Given the description of an element on the screen output the (x, y) to click on. 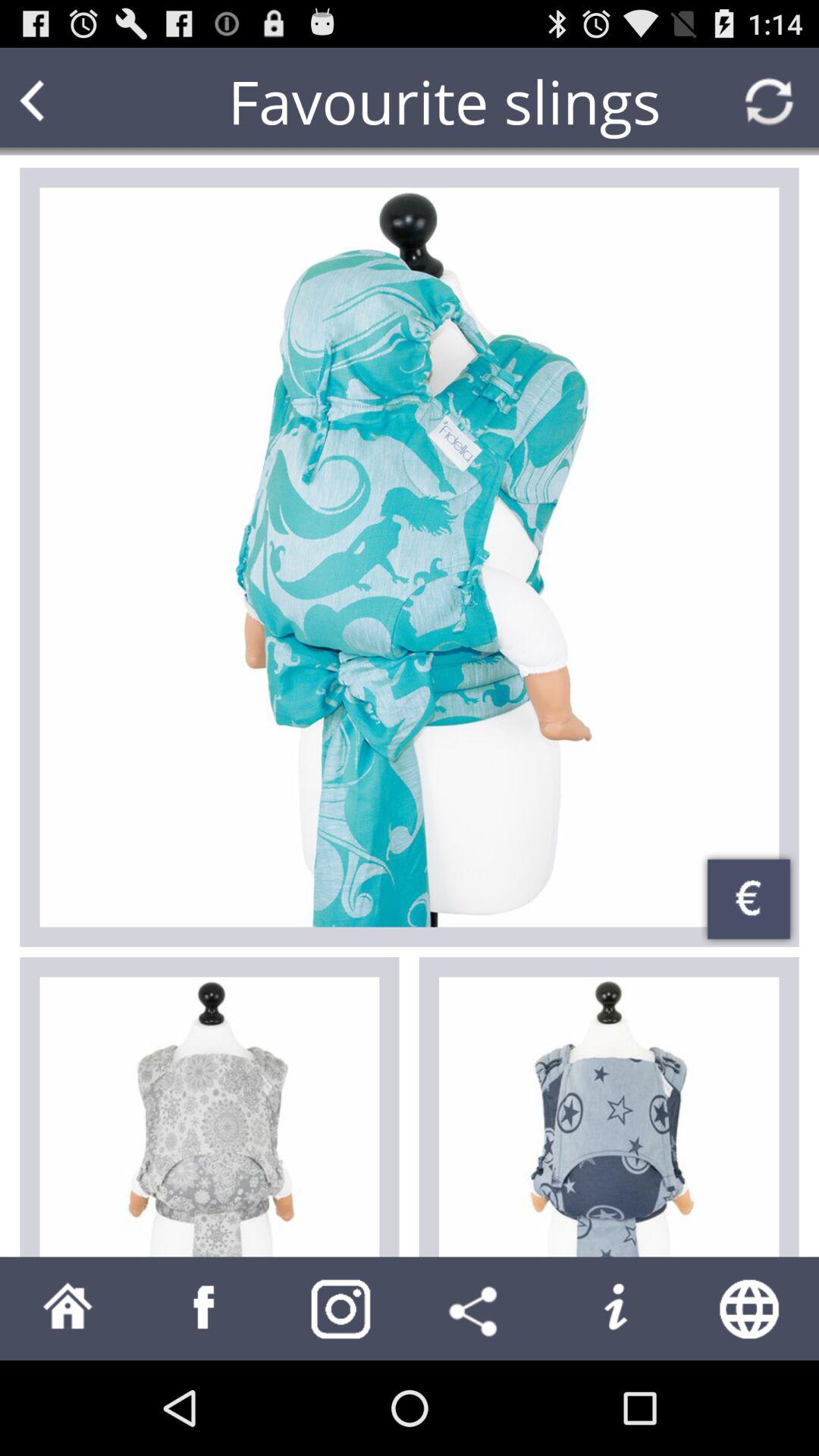
refresh (769, 101)
